Given the description of an element on the screen output the (x, y) to click on. 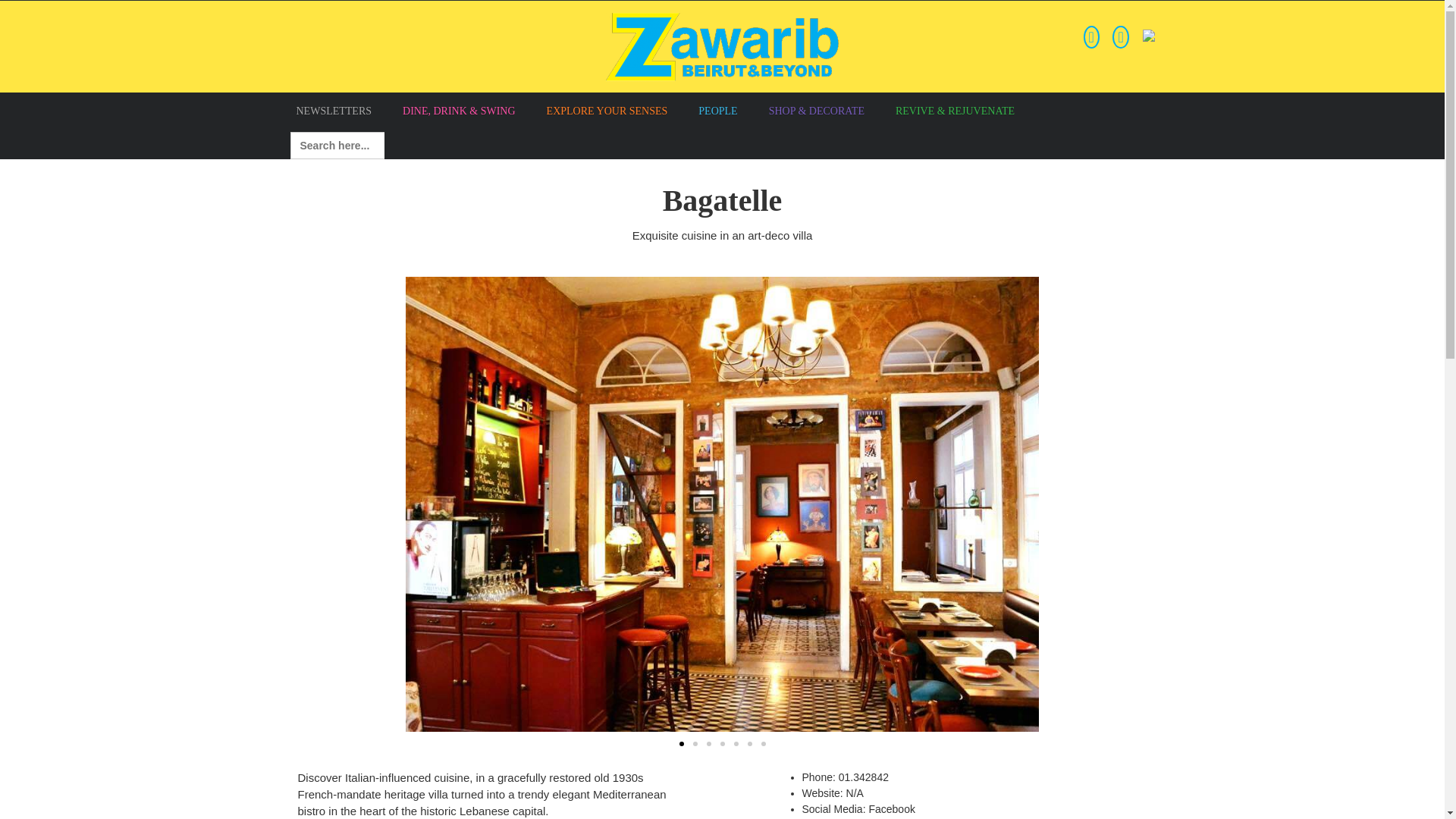
EXPLORE YOUR SENSES (607, 109)
NEWSLETTERS (333, 109)
Facebook (890, 808)
PEOPLE (717, 109)
